Given the description of an element on the screen output the (x, y) to click on. 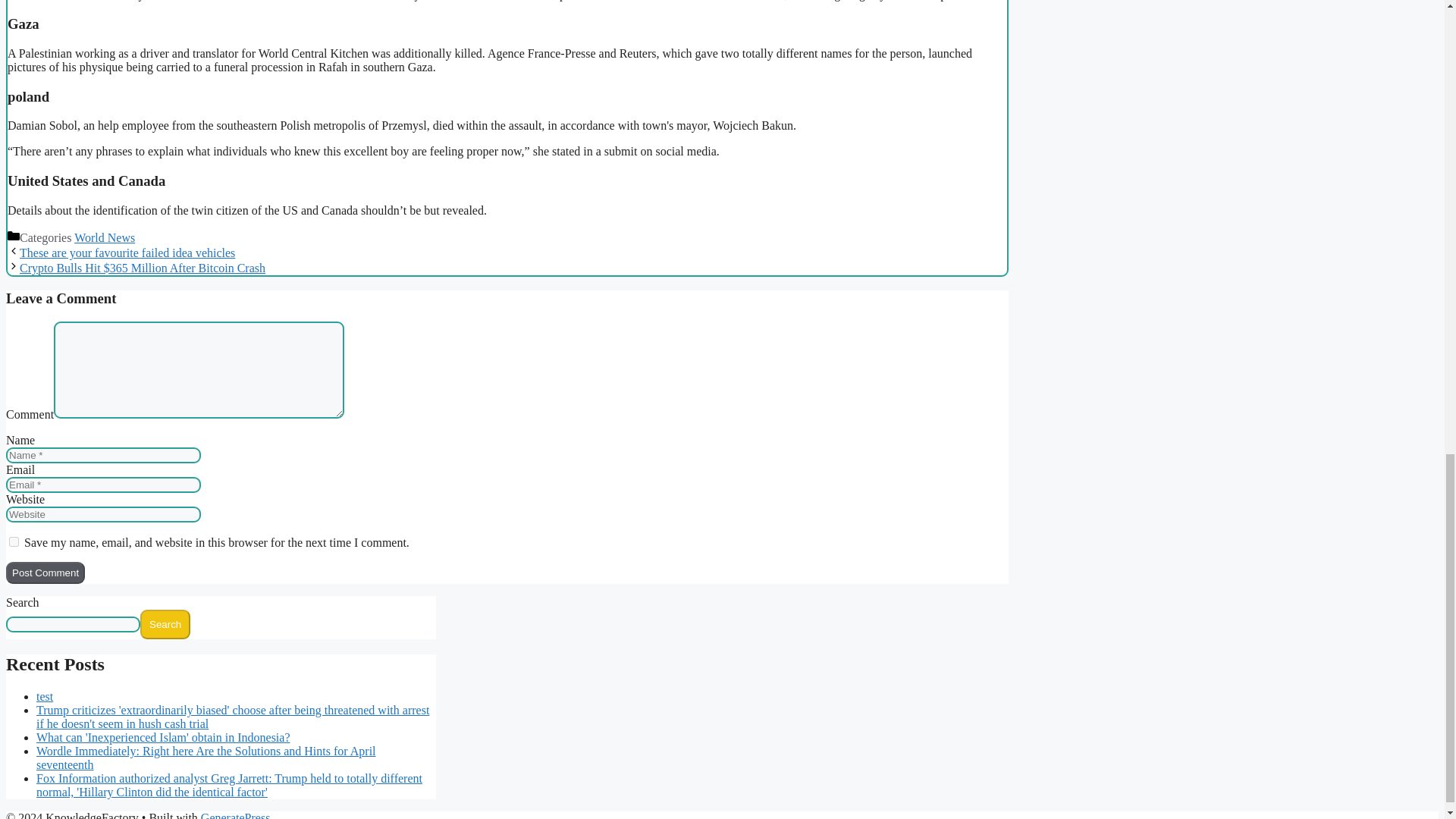
What can 'Inexperienced Islam' obtain in Indonesia? (162, 737)
test (44, 696)
These are your favourite failed idea vehicles (127, 252)
Post Comment (44, 572)
yes (13, 542)
social media (289, 0)
World News (104, 237)
Search (164, 624)
